Given the description of an element on the screen output the (x, y) to click on. 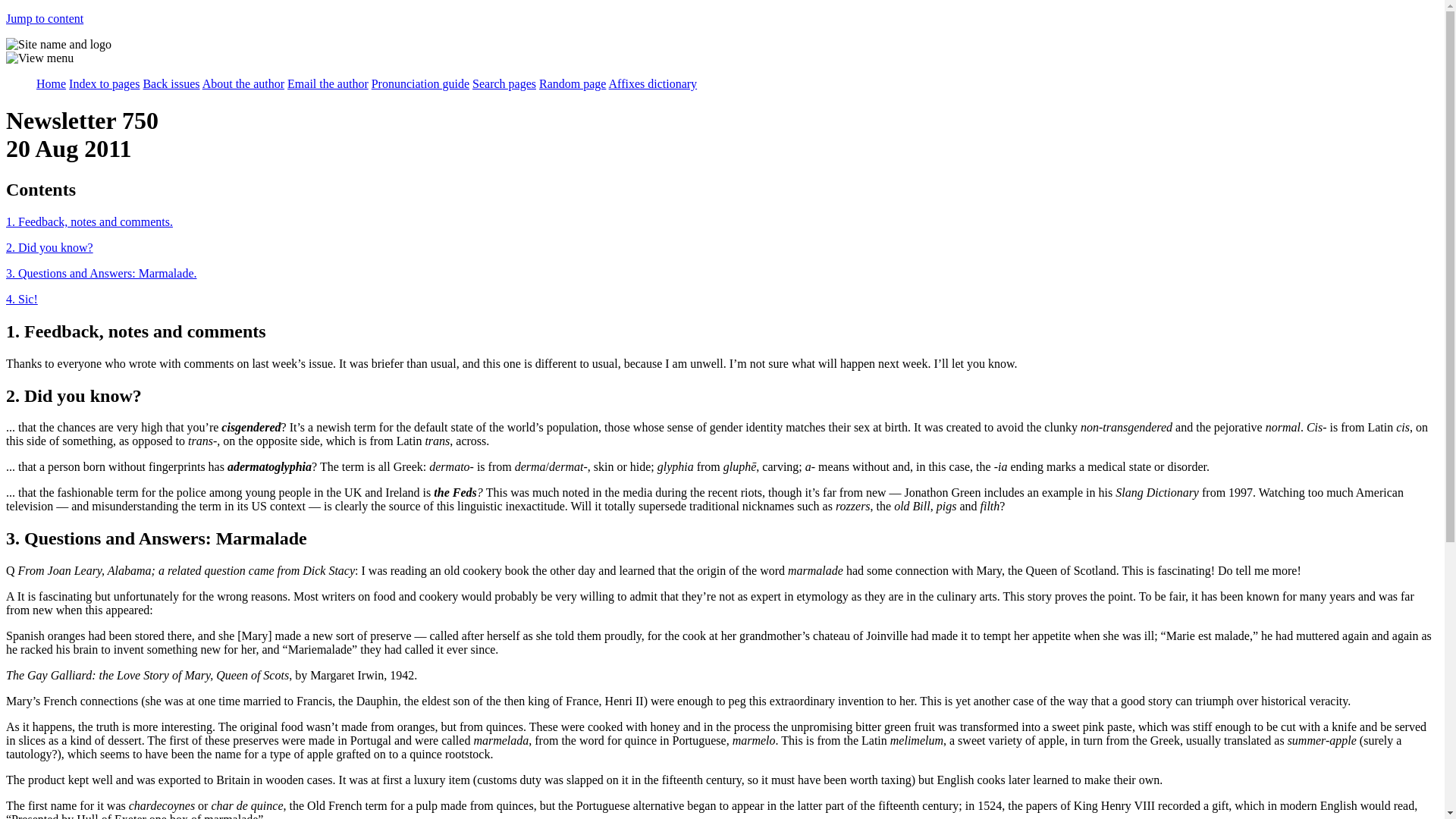
Search pages (503, 83)
Pronunciation guide (419, 83)
4. Sic! (21, 298)
Affixes dictionary (652, 83)
Jump to content (43, 18)
1. Feedback, notes and comments. (89, 221)
Email the author (327, 83)
Home (50, 83)
Index to pages (103, 83)
2. Did you know? (49, 246)
